Given the description of an element on the screen output the (x, y) to click on. 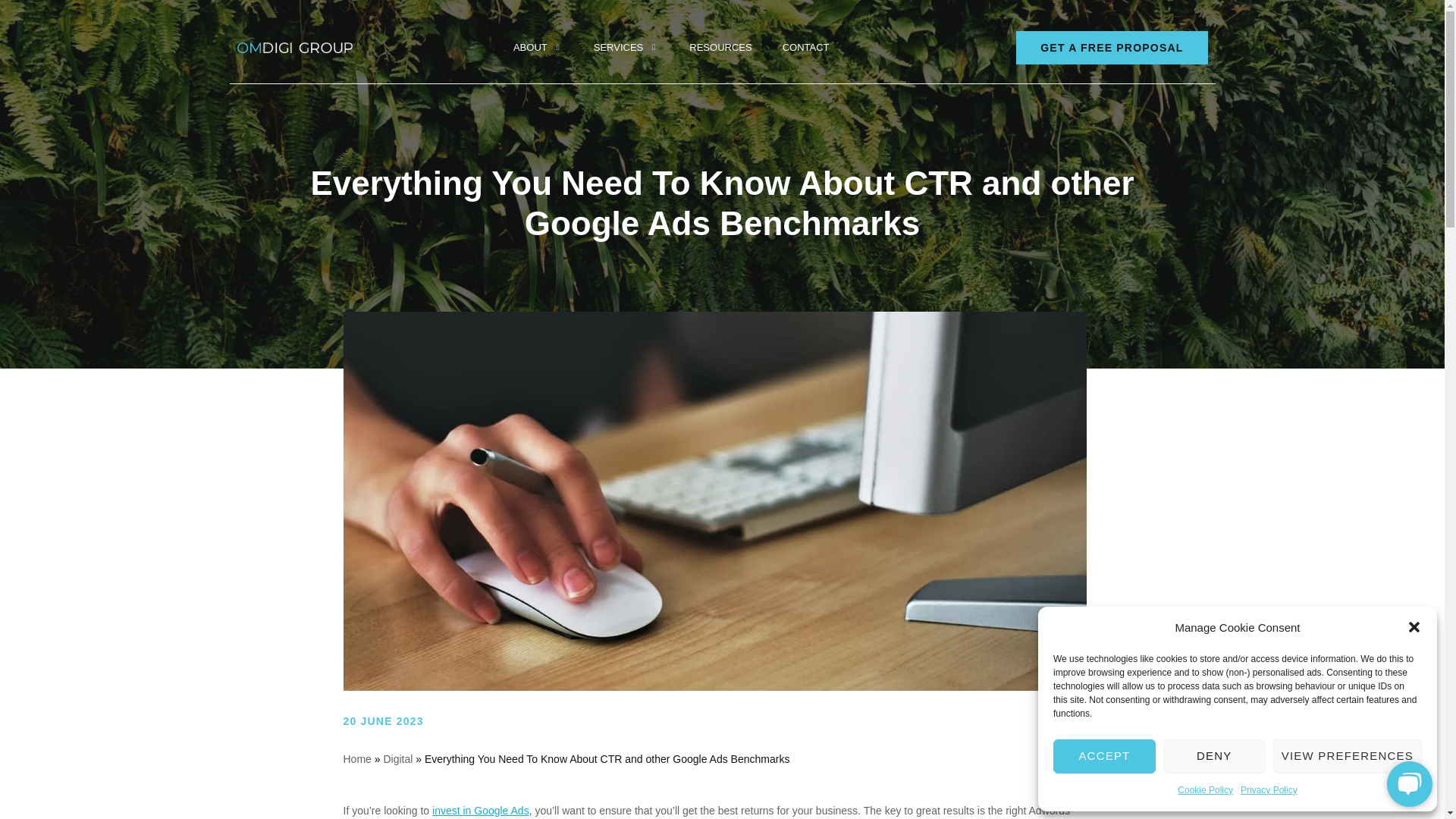
RESOURCES (720, 47)
20 JUNE 2023 (714, 726)
CONTACT (805, 47)
GET A FREE PROPOSAL (670, 47)
Home (1111, 46)
ACCEPT (356, 758)
VIEW PREFERENCES (1104, 756)
SERVICES (1347, 756)
GET A FREE PROPOSAL (626, 47)
Privacy Policy (1111, 46)
invest in Google Ads (1268, 790)
Digital (480, 810)
Cookie Policy (397, 758)
